Given the description of an element on the screen output the (x, y) to click on. 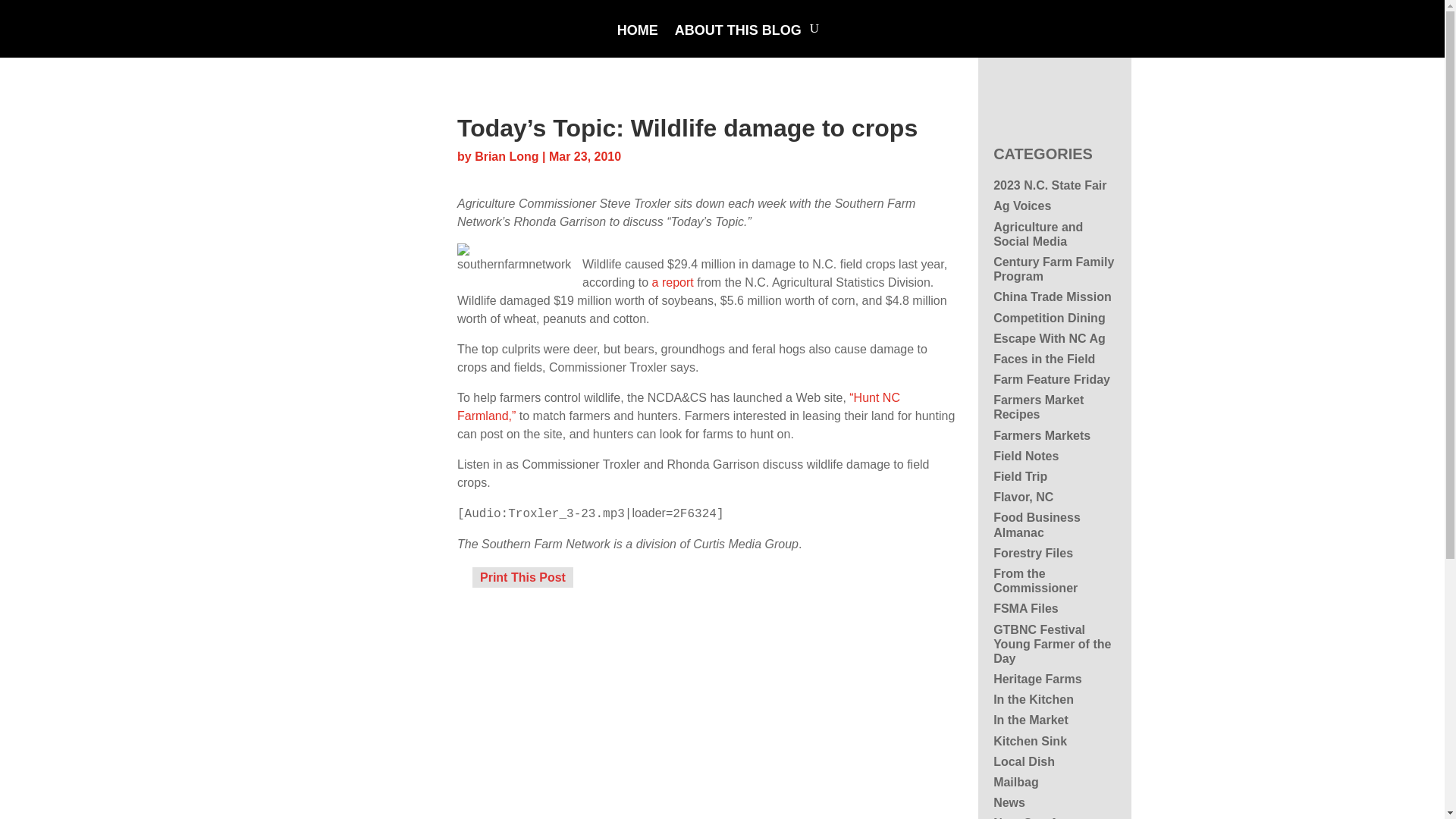
News (1008, 802)
FSMA Files (1025, 608)
In the Market (1030, 719)
Mailbag (1015, 781)
Faces in the Field (1043, 358)
HOME (637, 41)
Field Notes (1025, 455)
China Trade Mission (1052, 296)
Farm Feature Friday (1050, 379)
Posts by Brian Long (506, 155)
Kitchen Sink (1029, 740)
Print This Post (522, 576)
Brian Long (506, 155)
Flavor, NC (1022, 496)
GTBNC Festival Young Farmer of the Day (1051, 644)
